Given the description of an element on the screen output the (x, y) to click on. 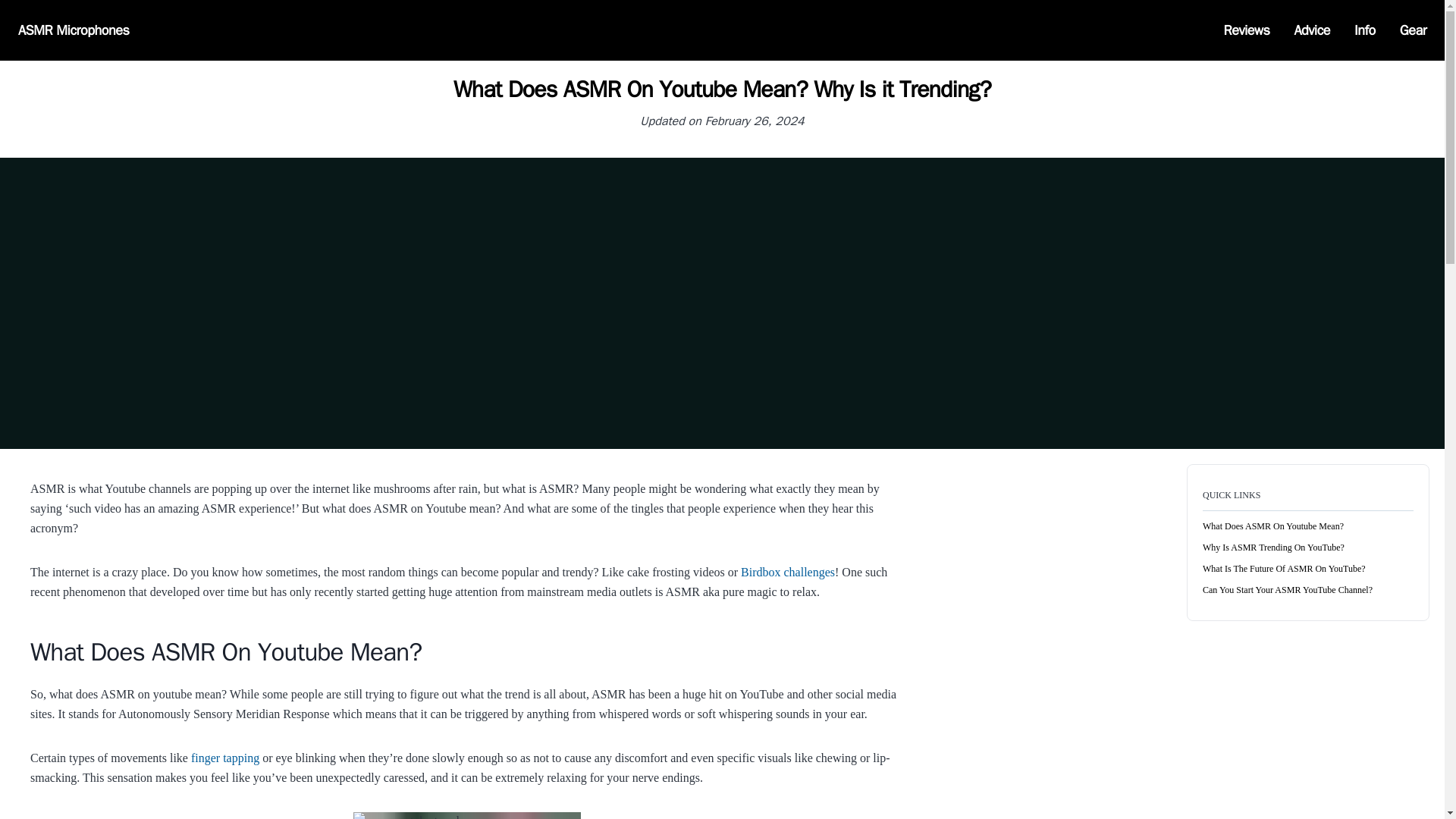
Info (1364, 29)
ASMR Microphones (73, 29)
What Does ASMR On Youtube Mean? (1272, 525)
Why Is ASMR Trending On YouTube? (1272, 547)
finger tapping (224, 757)
What Is The Future Of ASMR On YouTube? (1283, 568)
Birdbox challenges (787, 571)
Reviews (1246, 29)
Advice (1311, 29)
Can You Start Your ASMR YouTube Channel? (1287, 589)
